Given the description of an element on the screen output the (x, y) to click on. 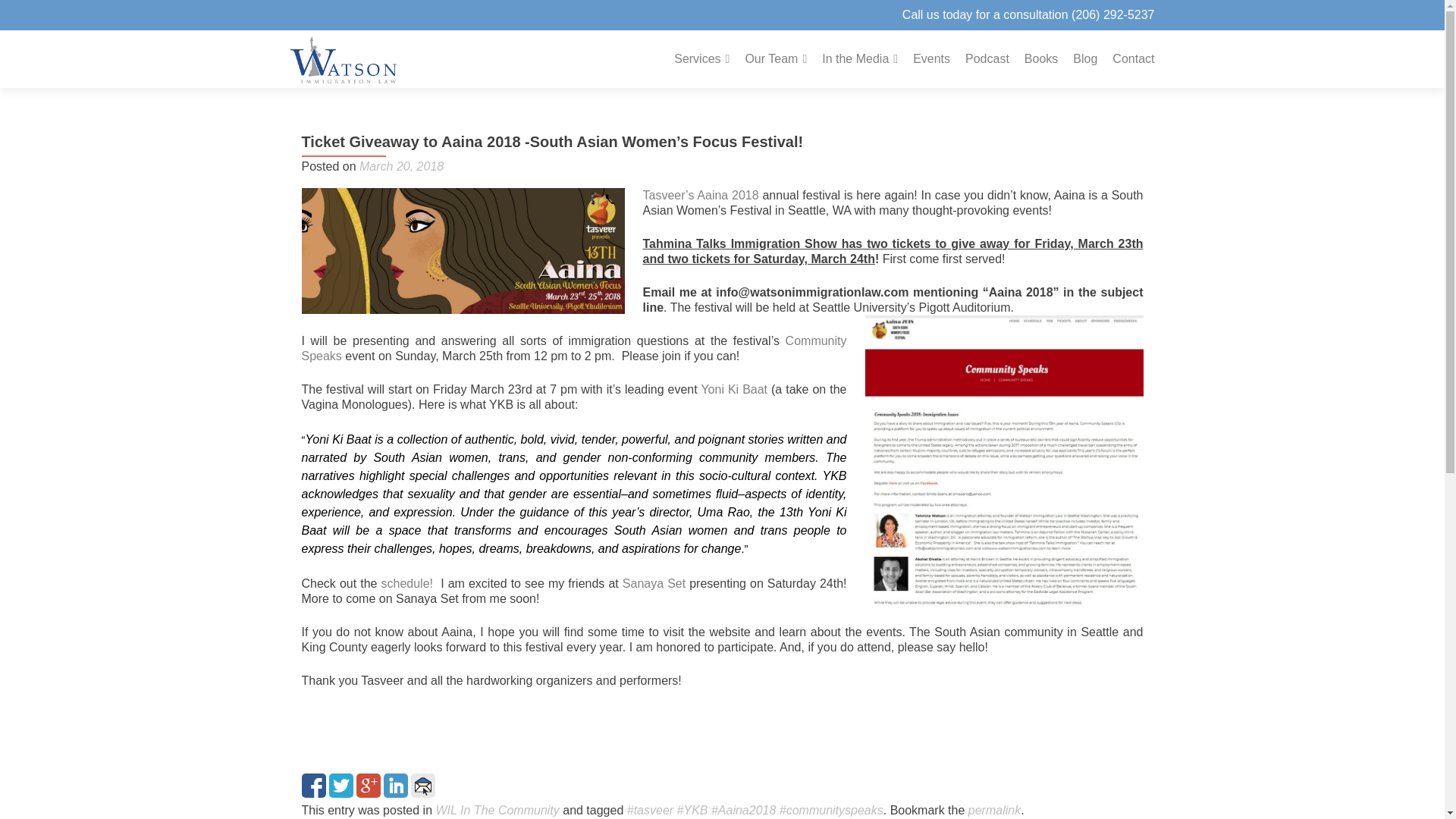
permalink (994, 809)
WIL In The Community (497, 809)
Community Speaks (574, 348)
In the Media (860, 58)
Blog (1085, 58)
Yoni Ki Baat (733, 389)
Our Team (775, 58)
Sanaya Set (651, 583)
schedule!  (409, 583)
Events (931, 58)
Books (1041, 58)
Podcast (987, 58)
Services (701, 58)
Contact (1133, 58)
March 20, 2018 (401, 165)
